Given the description of an element on the screen output the (x, y) to click on. 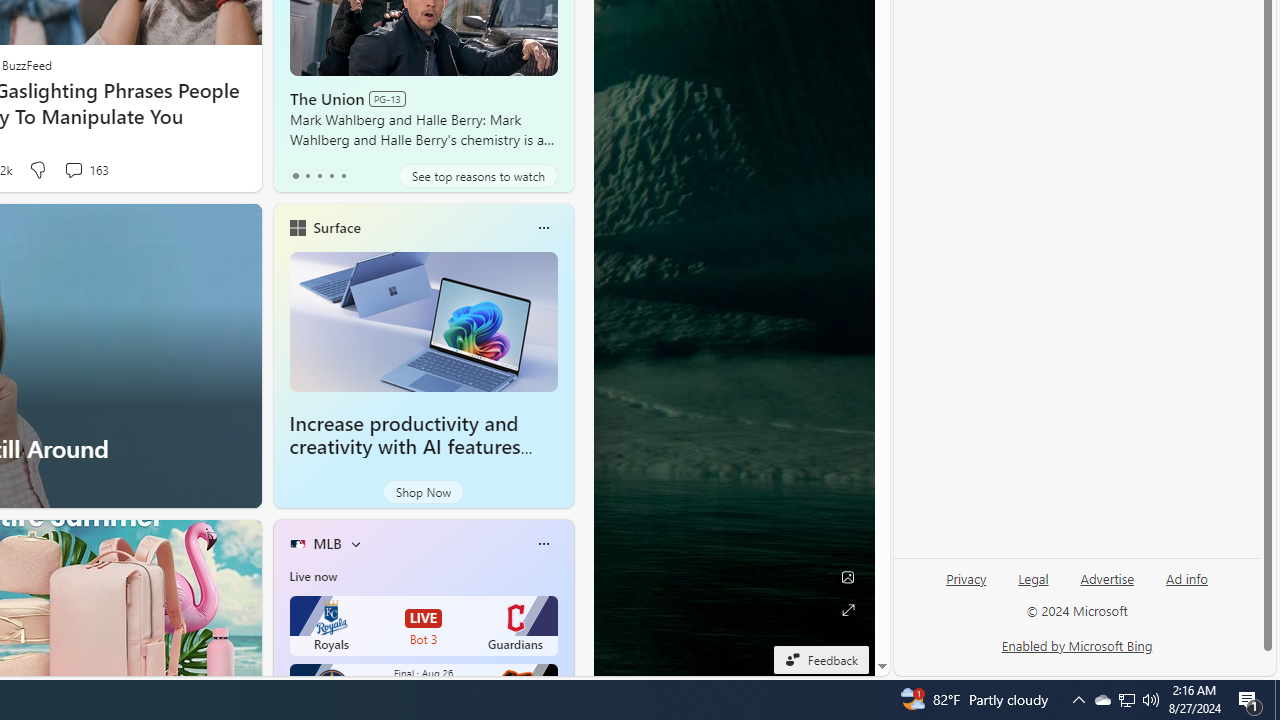
More interests (355, 543)
Class: icon-img (543, 543)
tab-2 (319, 175)
View comments 163 Comment (73, 169)
MLB (327, 543)
tab-4 (342, 175)
Edit Background (847, 577)
tab-1 (306, 175)
tab-3 (331, 175)
